Given the description of an element on the screen output the (x, y) to click on. 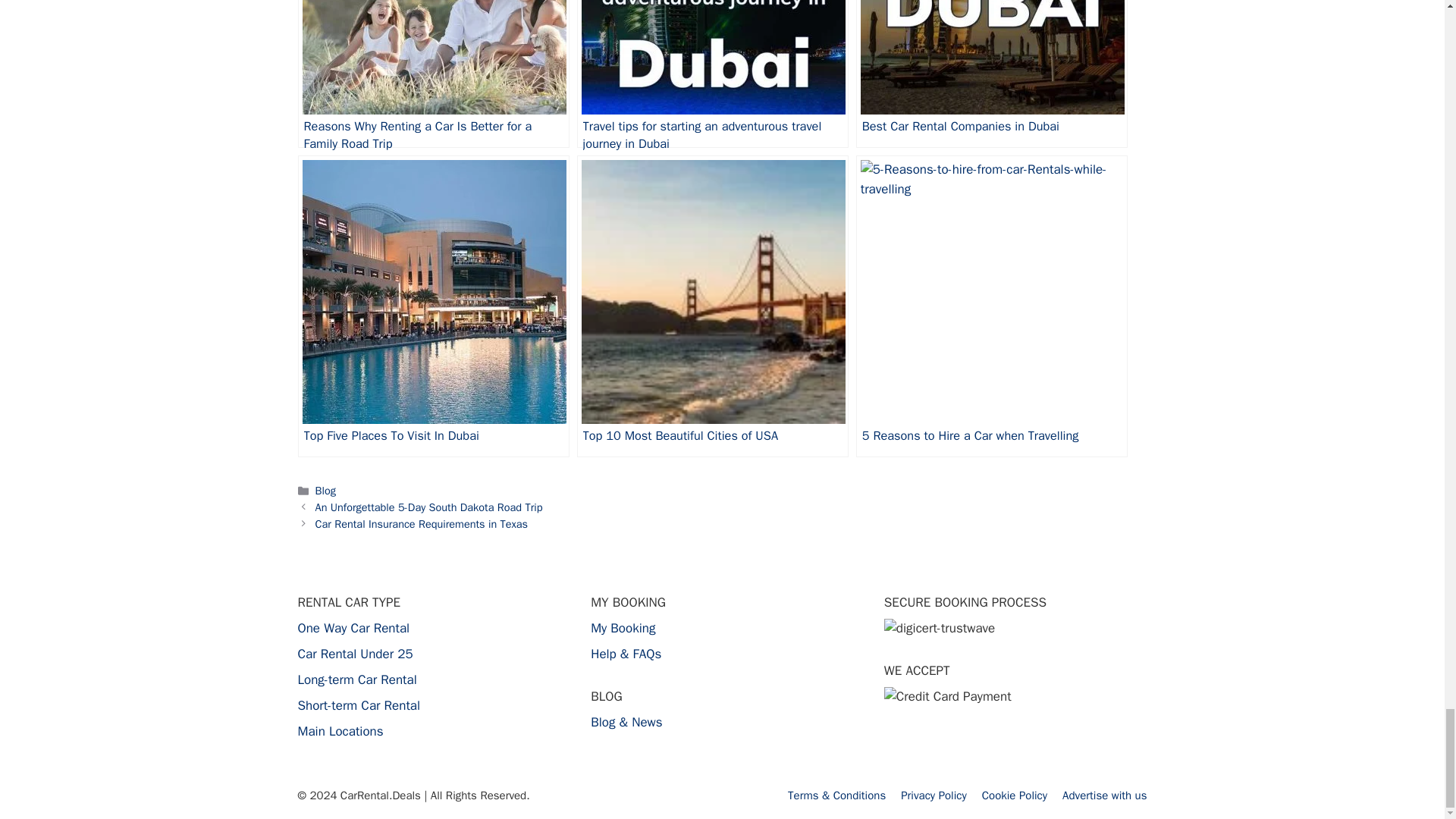
Top 10 Most Beautiful Cities of USA (712, 306)
5 Reasons to Hire a Car when Travelling (991, 306)
One Way Car Rental (353, 627)
Car Rental Insurance Requirements in Texas (421, 522)
Reasons Why Renting a Car Is Better for a Family Road Trip (433, 74)
Best Car Rental Companies in Dubai (991, 74)
Top 10 Most Beautiful Cities of USA (712, 306)
Top Five Places To Visit In Dubai (433, 306)
Top Five Places To Visit In Dubai (433, 306)
Short-term Car Rental (358, 705)
Best Car Rental Companies in Dubai (991, 74)
An Unforgettable 5-Day South Dakota Road Trip (429, 507)
Car Rental Under 25 (354, 653)
My Booking (623, 627)
